Given the description of an element on the screen output the (x, y) to click on. 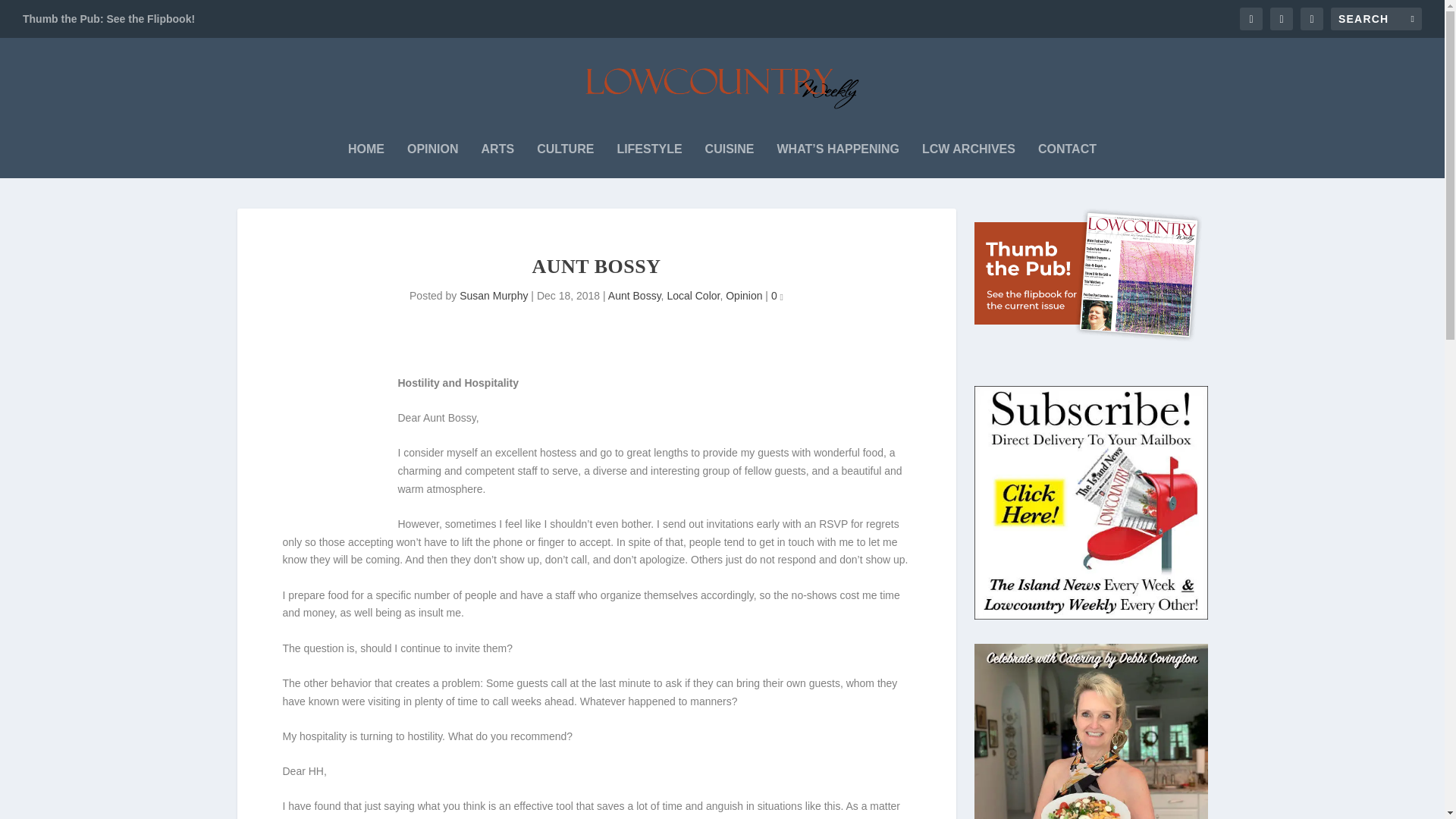
CONTACT (1067, 156)
OPINION (432, 156)
LCW ARCHIVES (967, 156)
Thumb the Pub: See the Flipbook! (109, 18)
LIFESTYLE (648, 156)
Posts by Susan Murphy (493, 295)
CUISINE (729, 156)
Search for: (1376, 18)
CULTURE (565, 156)
